Given the description of an element on the screen output the (x, y) to click on. 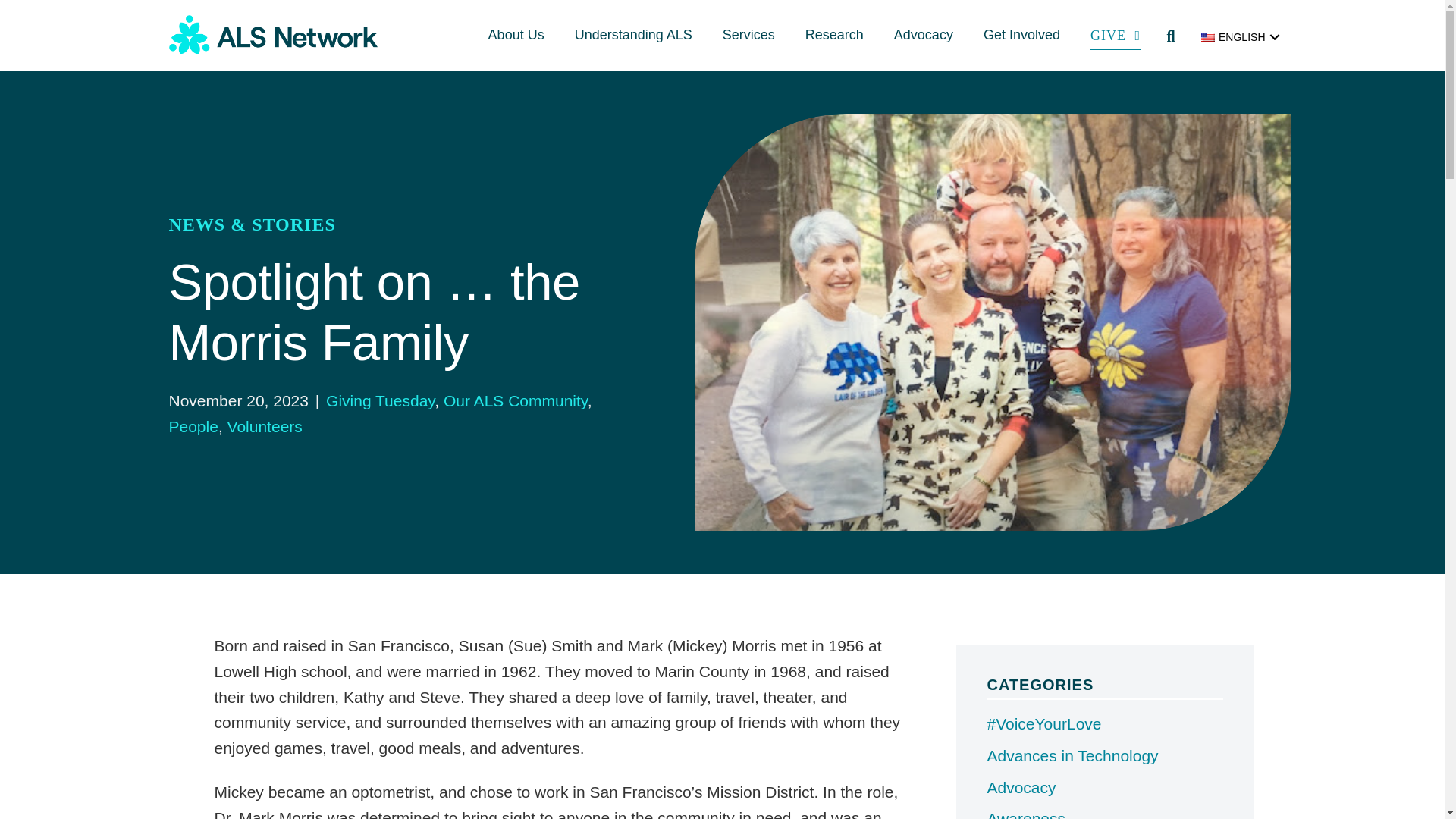
Services (748, 35)
English (1207, 36)
About Us (516, 35)
Understanding ALS (633, 35)
ALSNetwork Logo (272, 34)
